Given the description of an element on the screen output the (x, y) to click on. 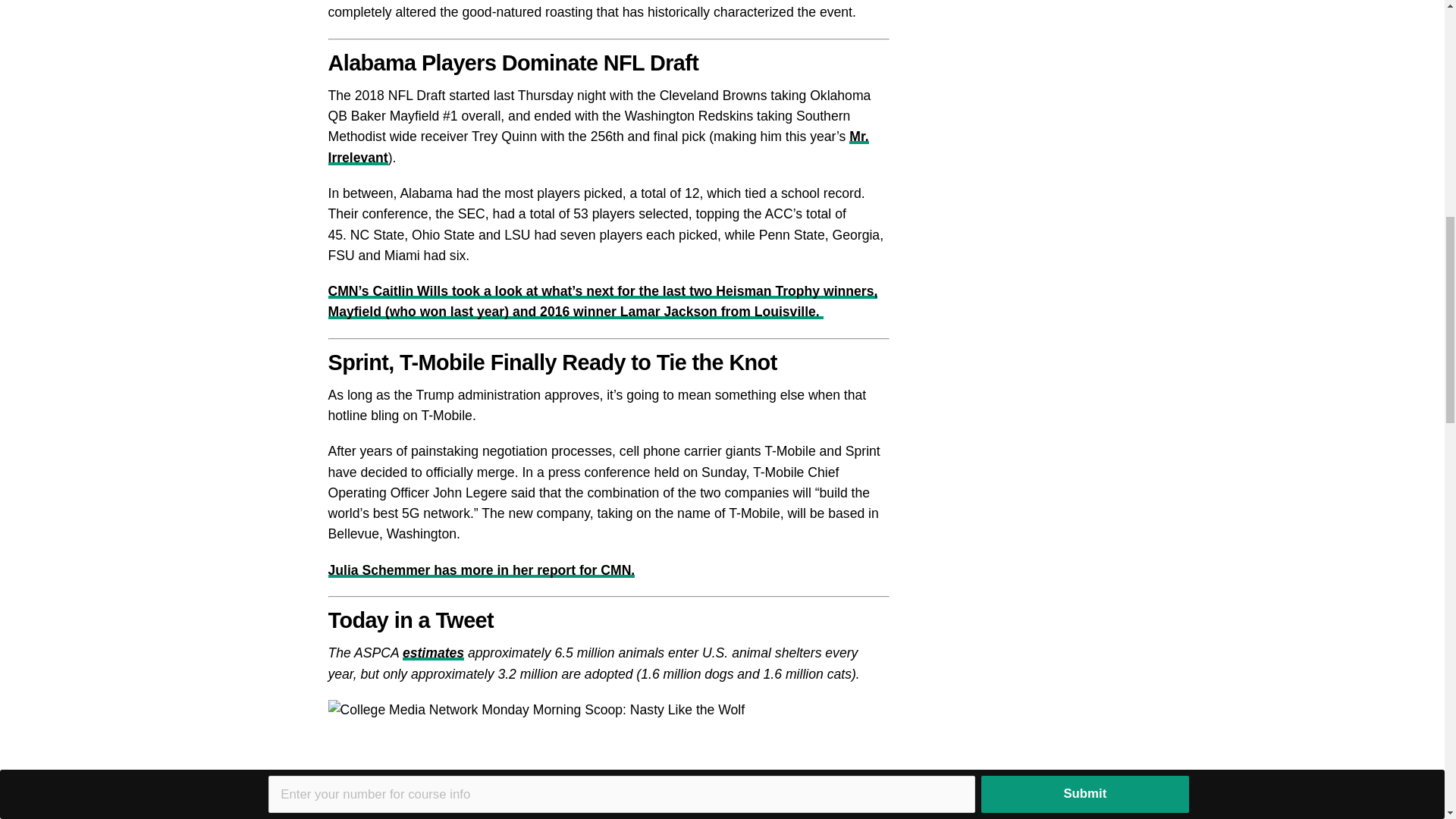
estimates (433, 652)
Julia Schemmer has more in her report for CMN. (480, 570)
Mr. Irrelevant (597, 146)
